Given the description of an element on the screen output the (x, y) to click on. 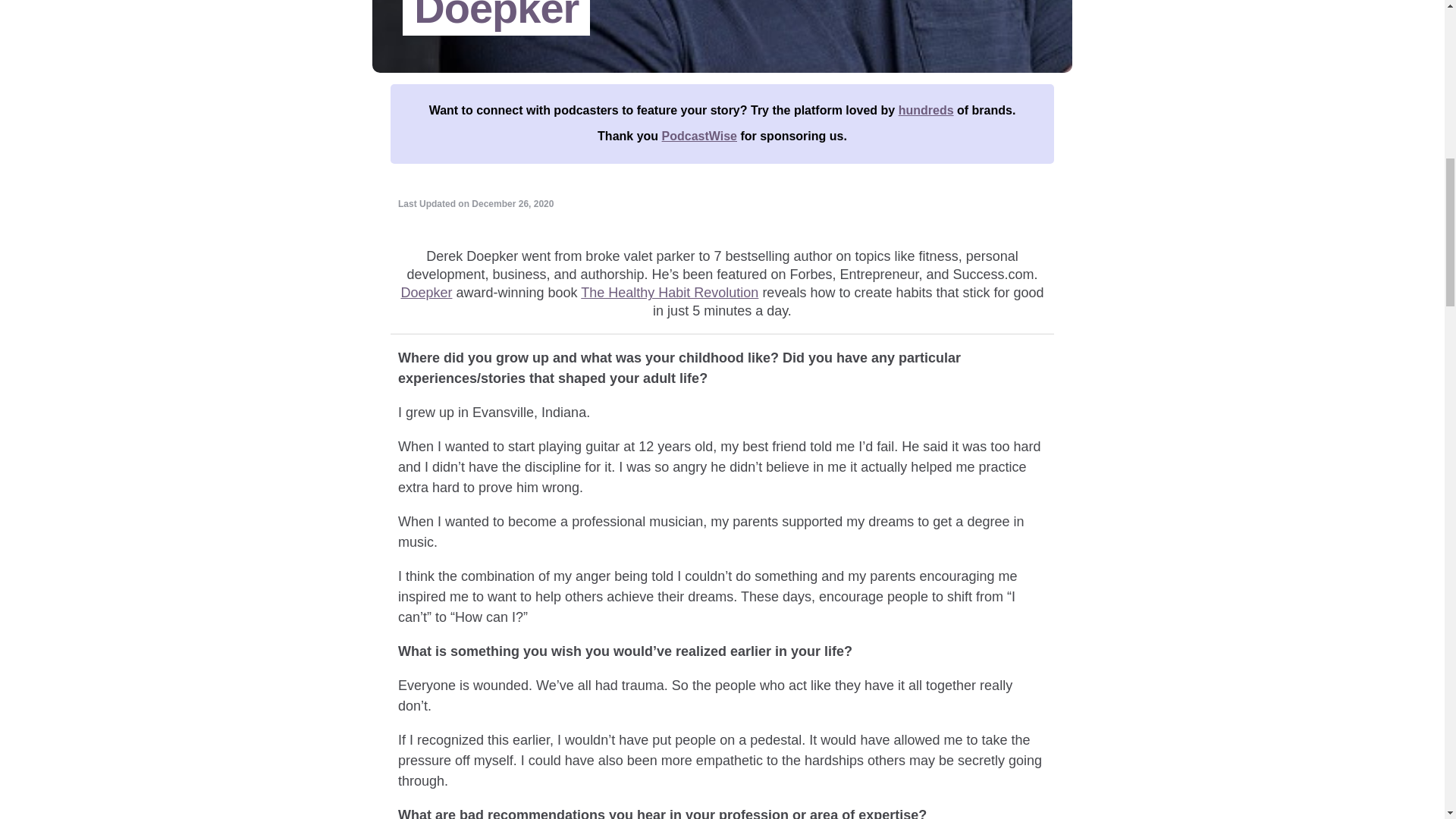
Doepker (425, 292)
The Healthy Habit Revolution (669, 292)
PodcastWise (699, 135)
hundreds (925, 110)
